Given the description of an element on the screen output the (x, y) to click on. 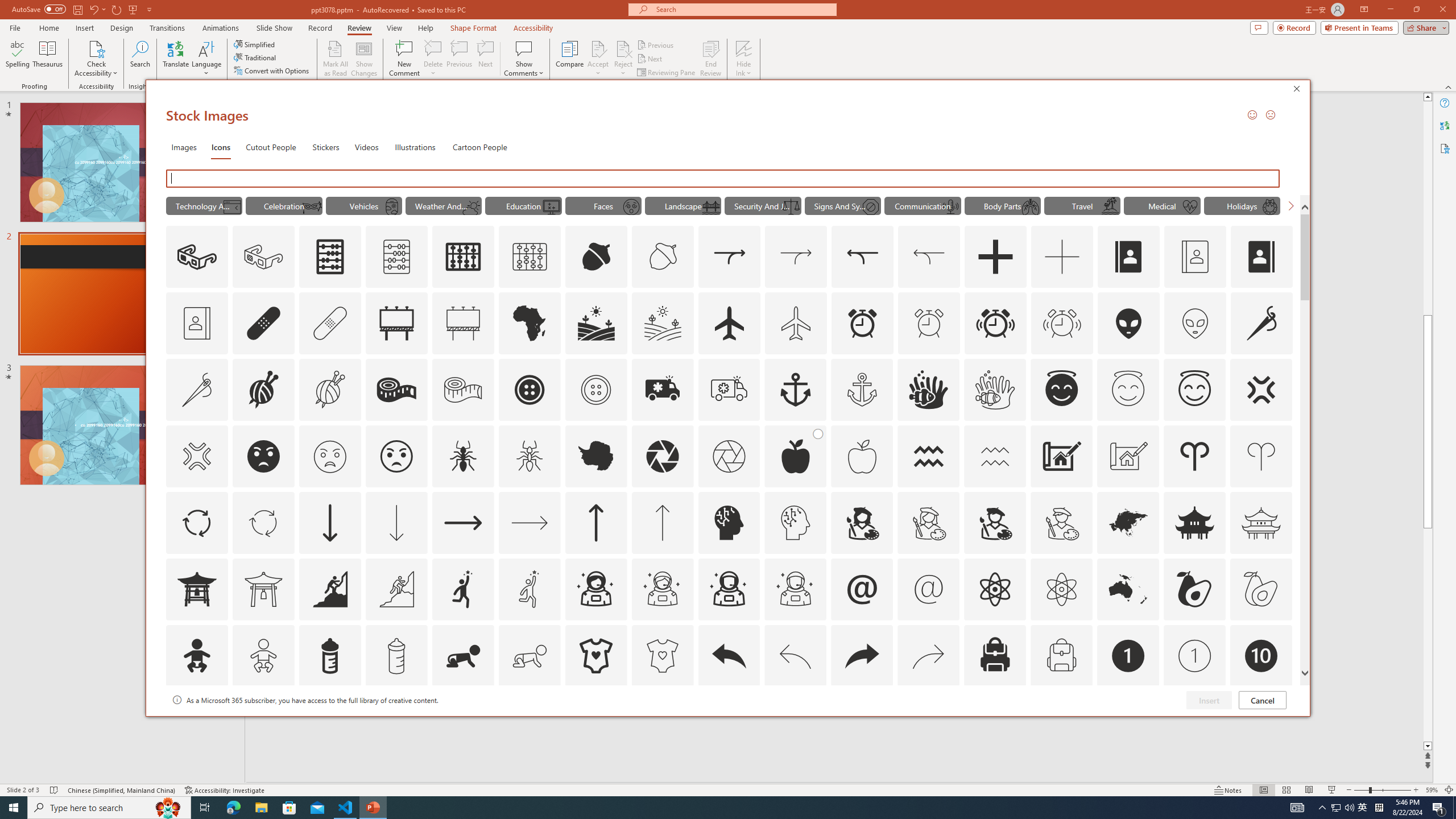
Microsoft Edge (233, 807)
AutomationID: Icons_Ant_M (529, 455)
AutomationID: Icons_AngelFace (1061, 389)
Icons (220, 146)
Action Center, 1 new notification (1439, 807)
